Given the description of an element on the screen output the (x, y) to click on. 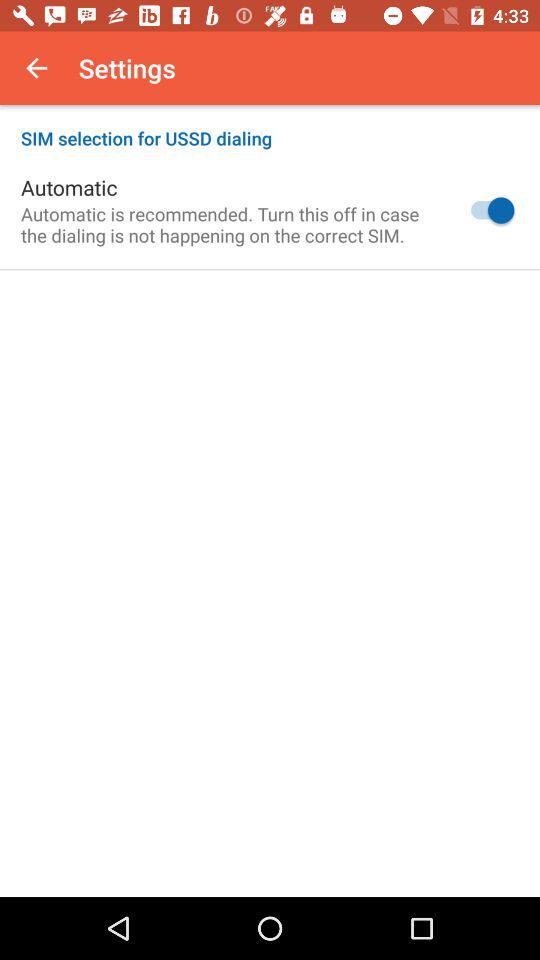
turn off icon at the top right corner (487, 210)
